Given the description of an element on the screen output the (x, y) to click on. 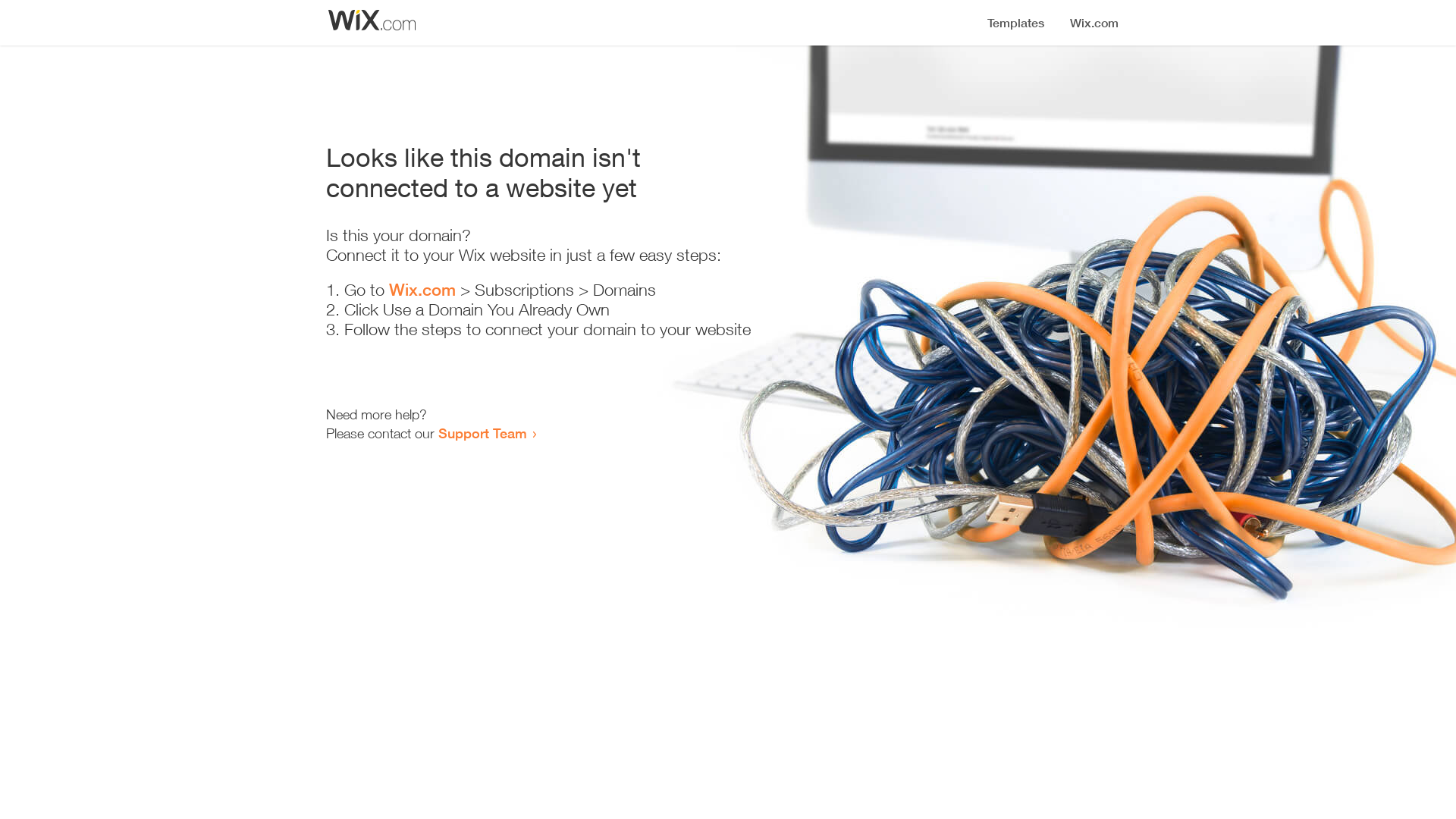
Support Team Element type: text (482, 432)
Wix.com Element type: text (422, 289)
